Given the description of an element on the screen output the (x, y) to click on. 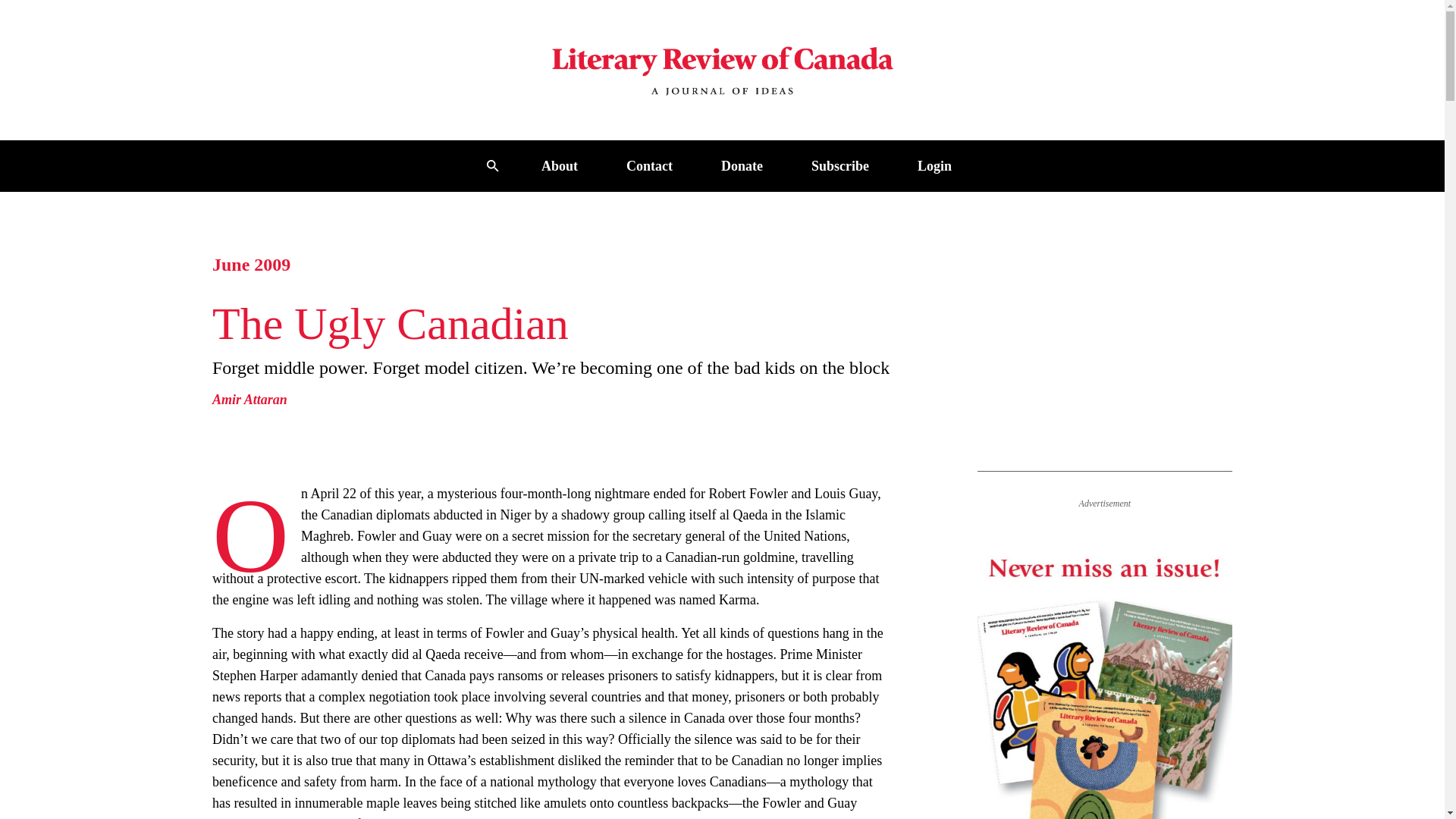
Subscribe (840, 165)
Donate (742, 165)
Login (934, 165)
About (559, 165)
Contact (649, 165)
Amir Attaran (249, 399)
June 2009 (250, 264)
